Given the description of an element on the screen output the (x, y) to click on. 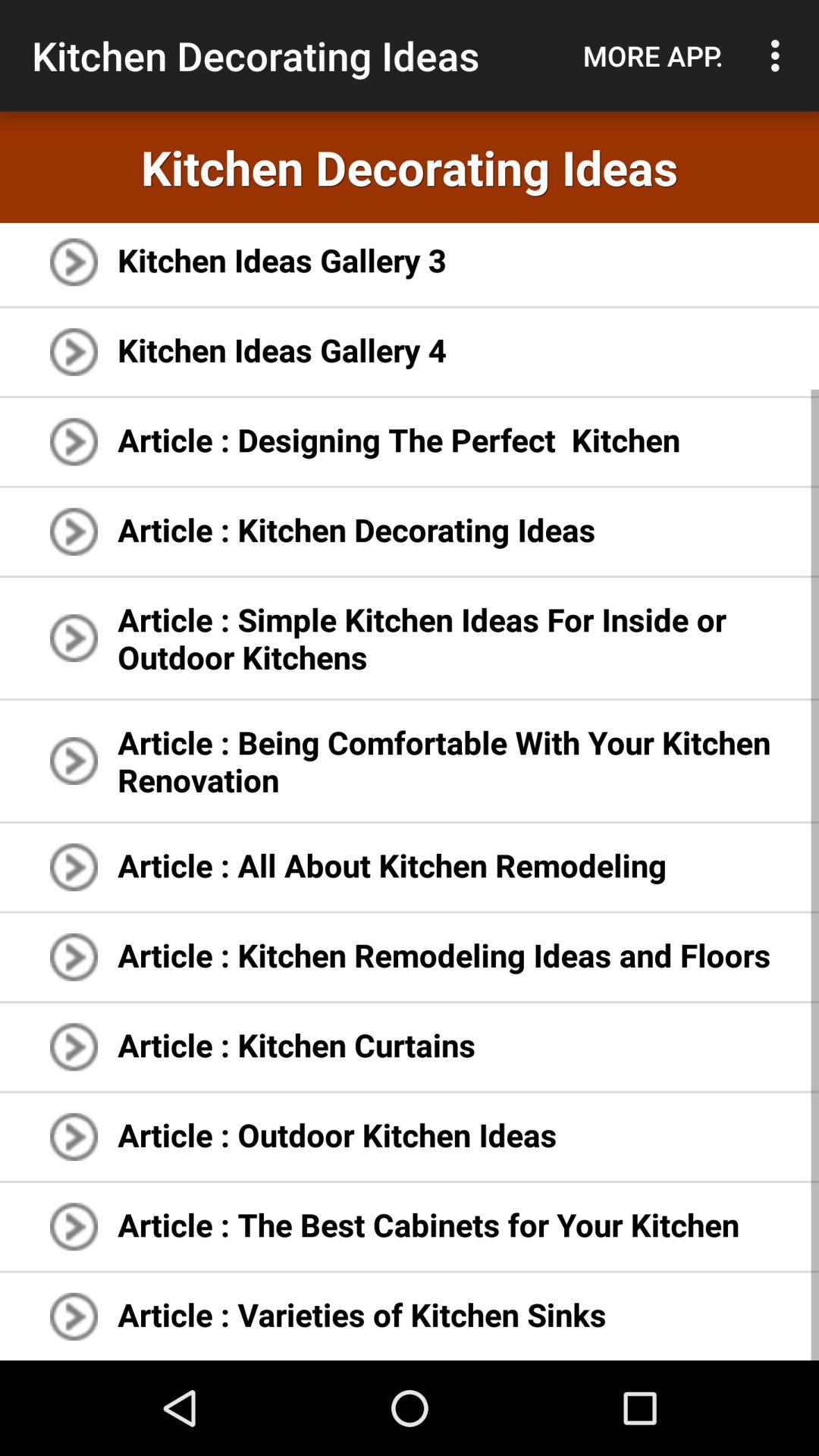
click more app. item (653, 55)
